Given the description of an element on the screen output the (x, y) to click on. 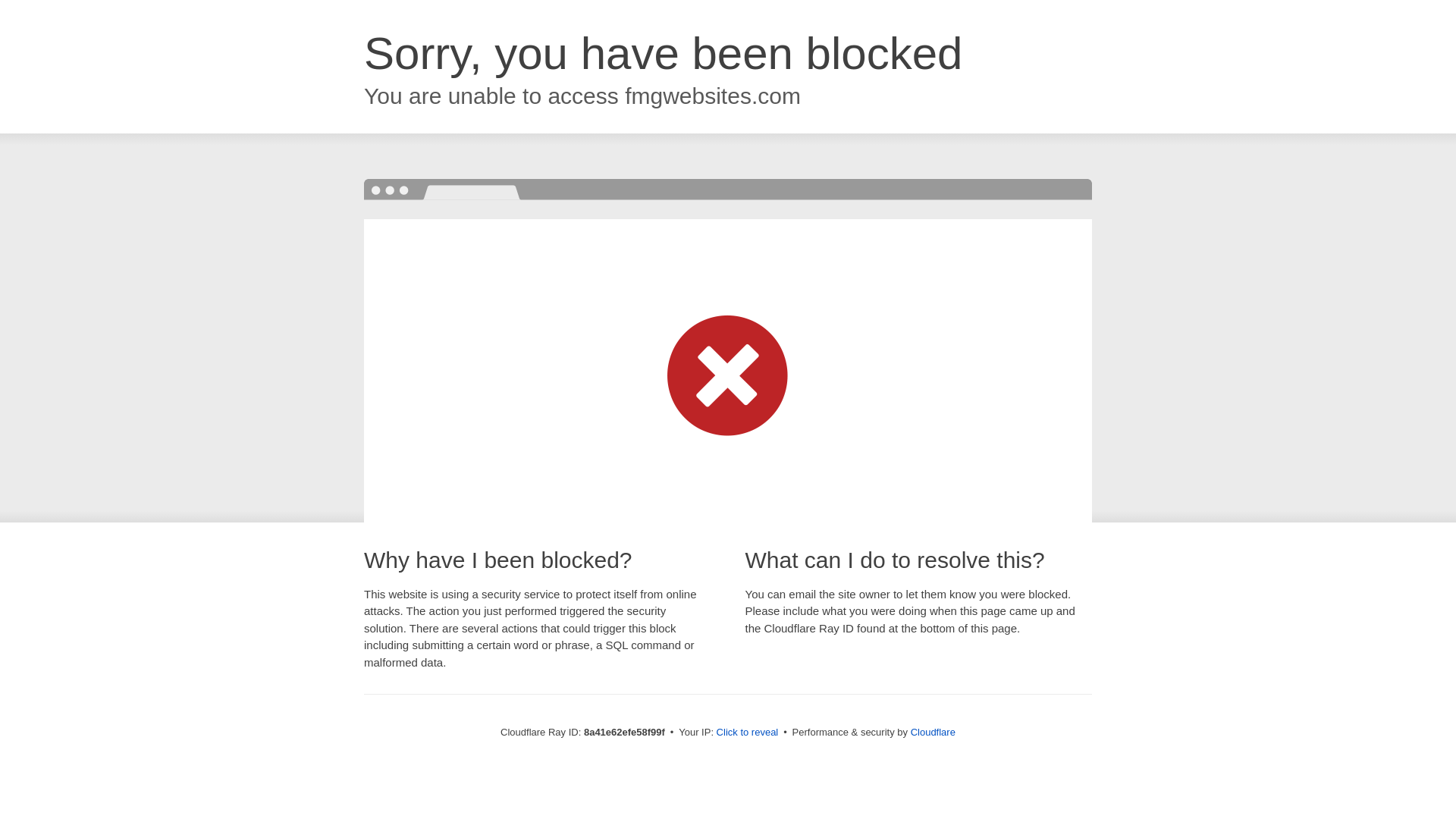
Cloudflare (933, 731)
Click to reveal (747, 732)
